Given the description of an element on the screen output the (x, y) to click on. 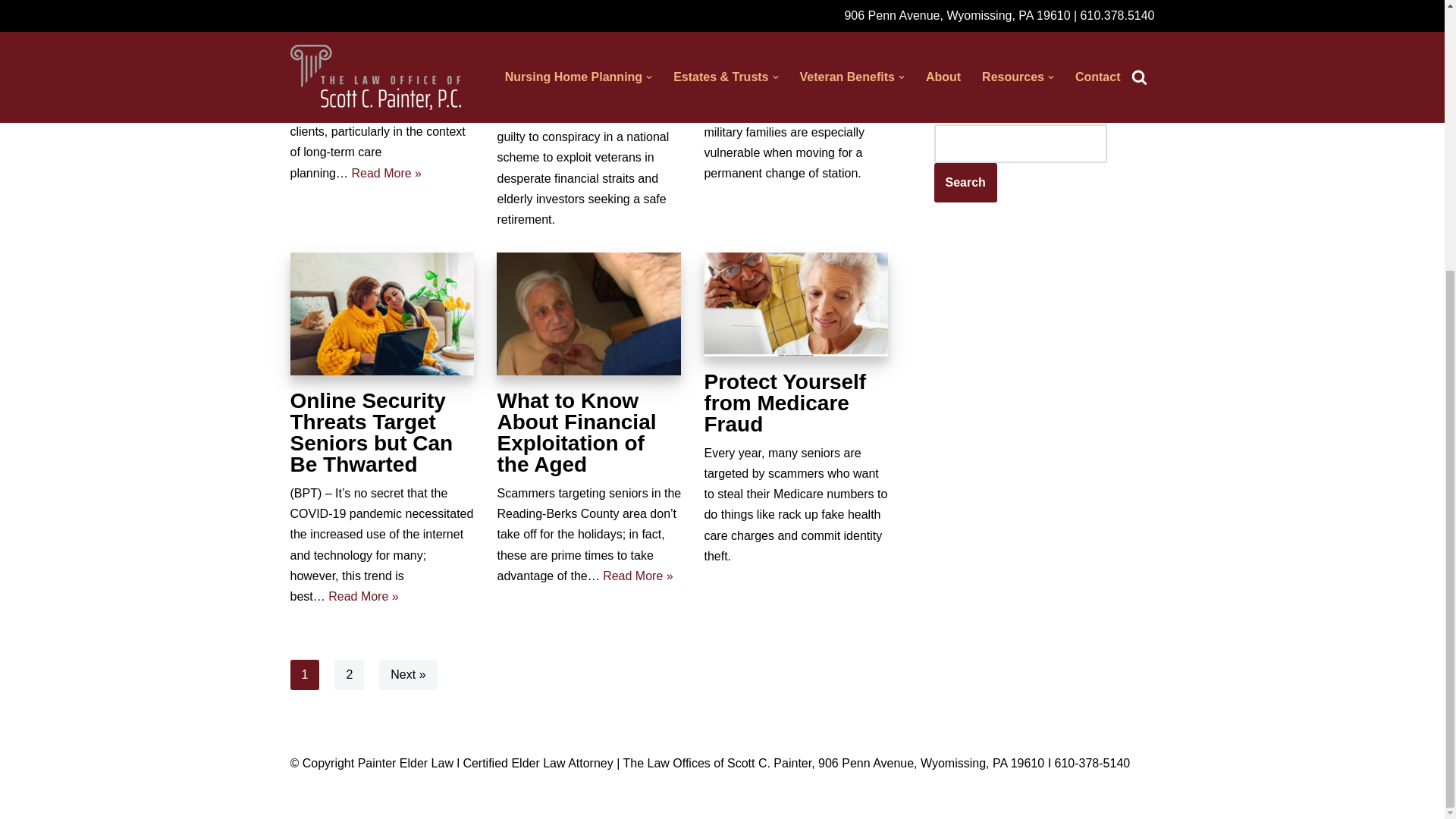
Protect Yourself from Medicare Fraud (795, 304)
Online Security Threats Target Seniors but Can Be Thwarted (381, 313)
What to Know About Financial Exploitation of the Aged (588, 313)
